Given the description of an element on the screen output the (x, y) to click on. 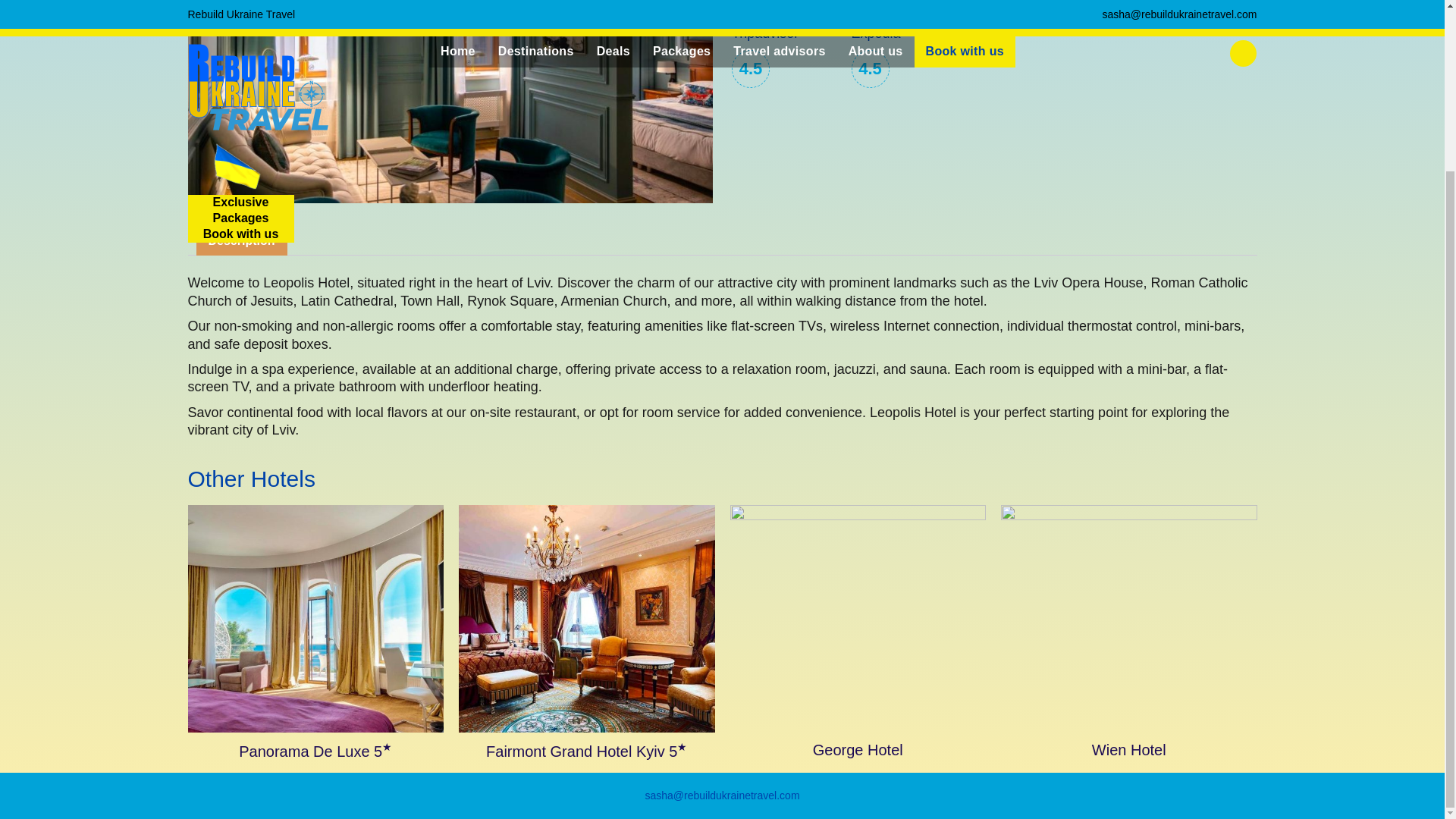
Wien Hotel (1129, 633)
Description (241, 241)
George Hotel (857, 633)
